Given the description of an element on the screen output the (x, y) to click on. 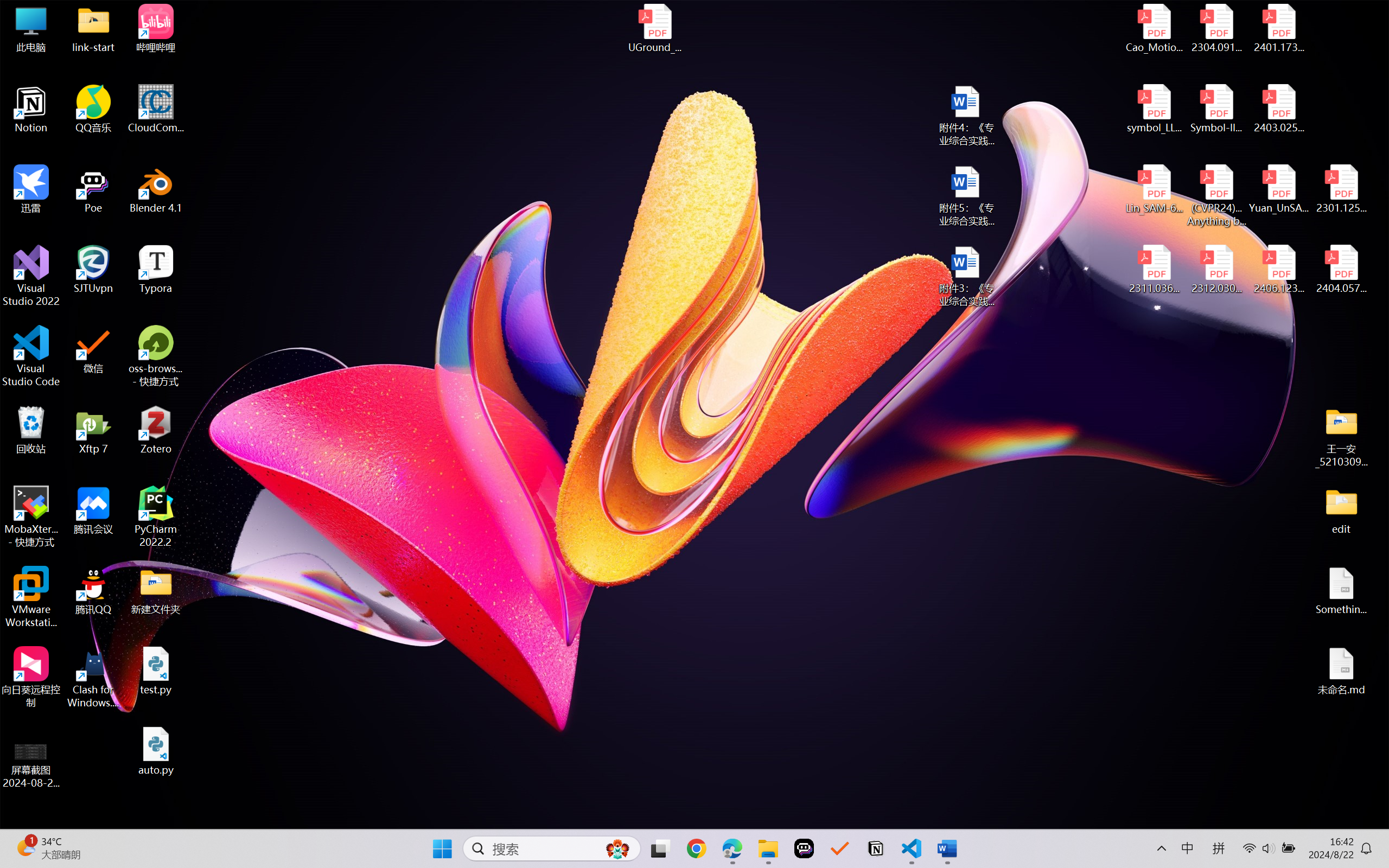
Typora (156, 269)
SJTUvpn (93, 269)
Google Chrome (696, 848)
